Given the description of an element on the screen output the (x, y) to click on. 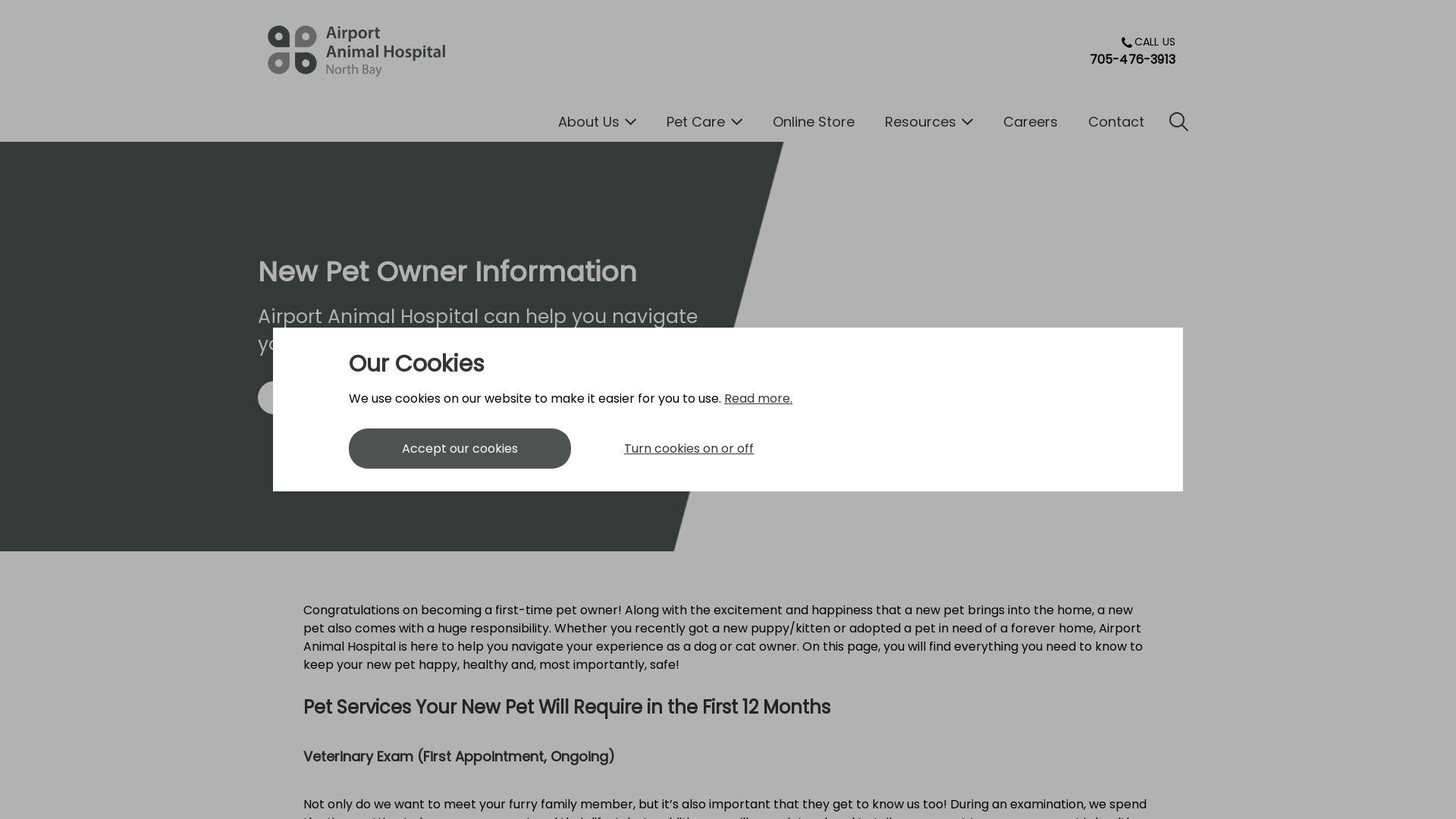
Turn cookies on or off Element type: text (688, 448)
Contact Us Element type: text (386, 397)
Pet Care Element type: text (704, 121)
Airport Animal Hospital's homepage Element type: text (356, 51)
Careers Element type: text (1030, 121)
IvcPractices.HeaderNav.Search.Toggle.Button.Aria Element type: text (1178, 121)
Resources Element type: text (928, 121)
Accept our cookies Element type: text (459, 448)
About Us Element type: text (597, 121)
Online Store Element type: text (812, 121)
Read more. Element type: text (758, 398)
Contact Element type: text (1116, 121)
